Given the description of an element on the screen output the (x, y) to click on. 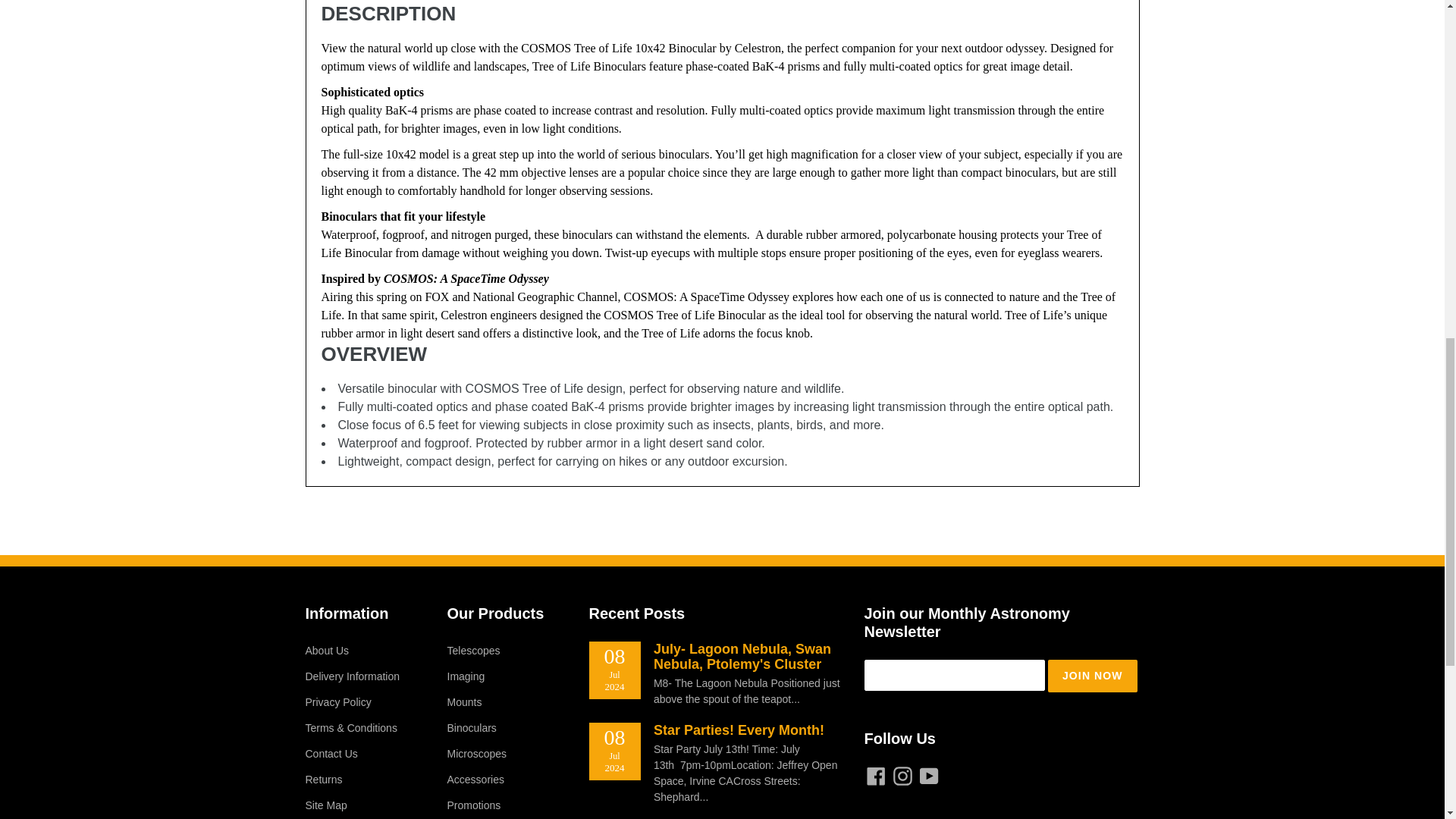
oc telescope on YouTube (928, 775)
oc telescope on Instagram (902, 775)
oc telescope on Facebook (876, 775)
